Given the description of an element on the screen output the (x, y) to click on. 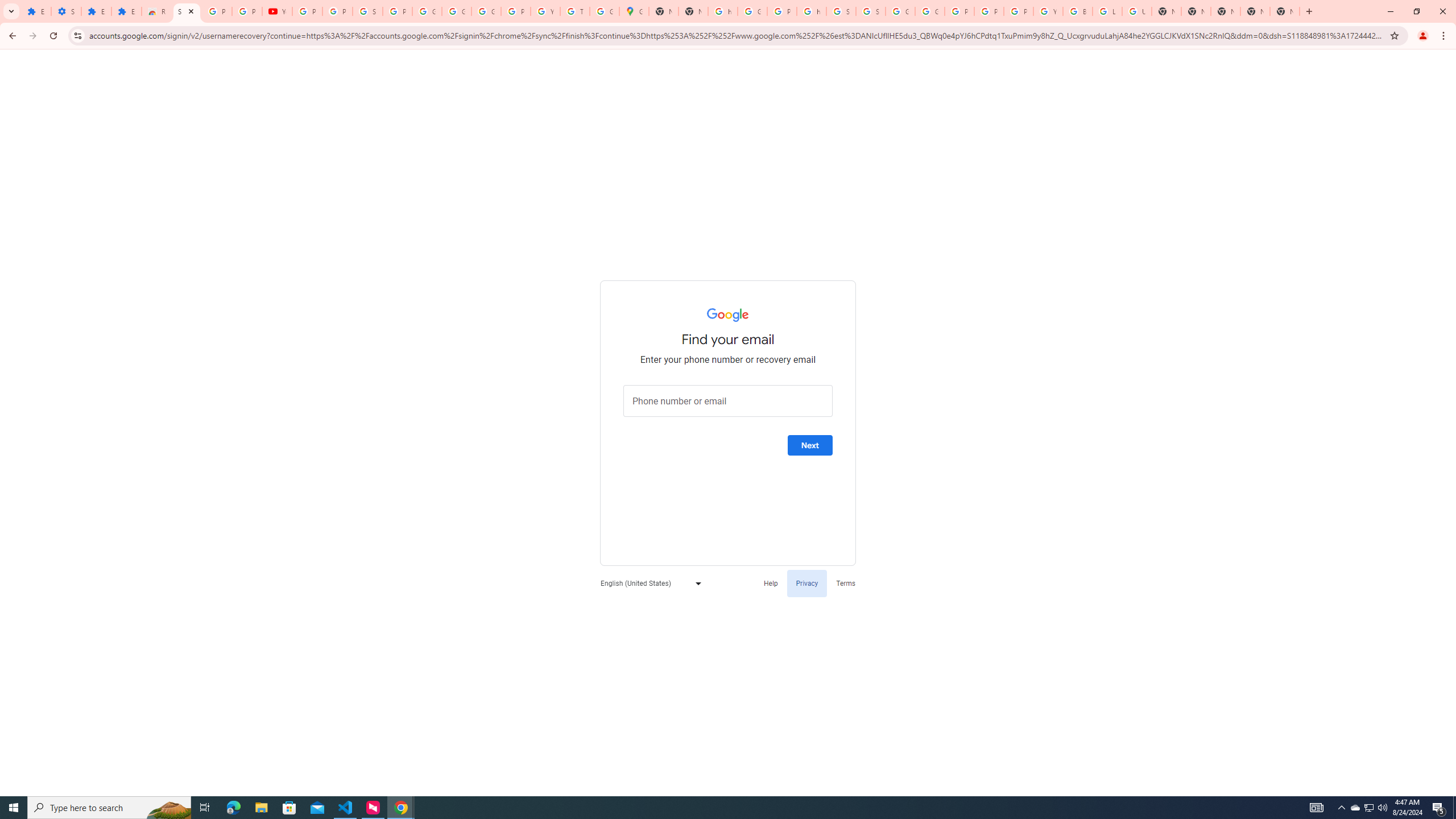
Sign in - Google Accounts (840, 11)
Extensions (126, 11)
Extensions (95, 11)
YouTube (277, 11)
Google Account (426, 11)
Sign in - Google Accounts (870, 11)
Help (770, 583)
Settings (65, 11)
